Given the description of an element on the screen output the (x, y) to click on. 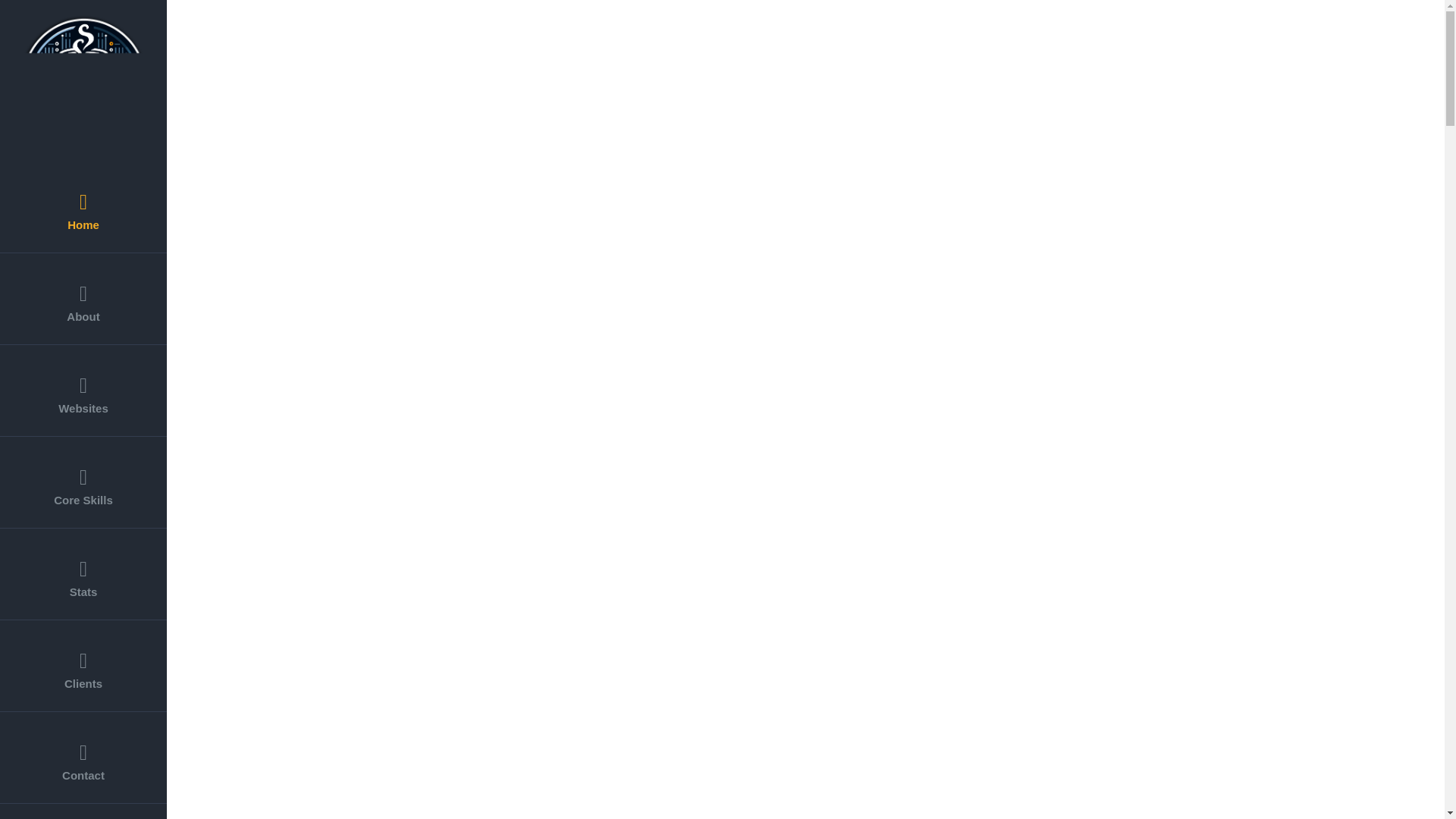
Core Skills (83, 482)
Websites (83, 390)
About (83, 298)
Contact (83, 757)
Clients (83, 665)
Stats (83, 573)
Home (83, 207)
